Given the description of an element on the screen output the (x, y) to click on. 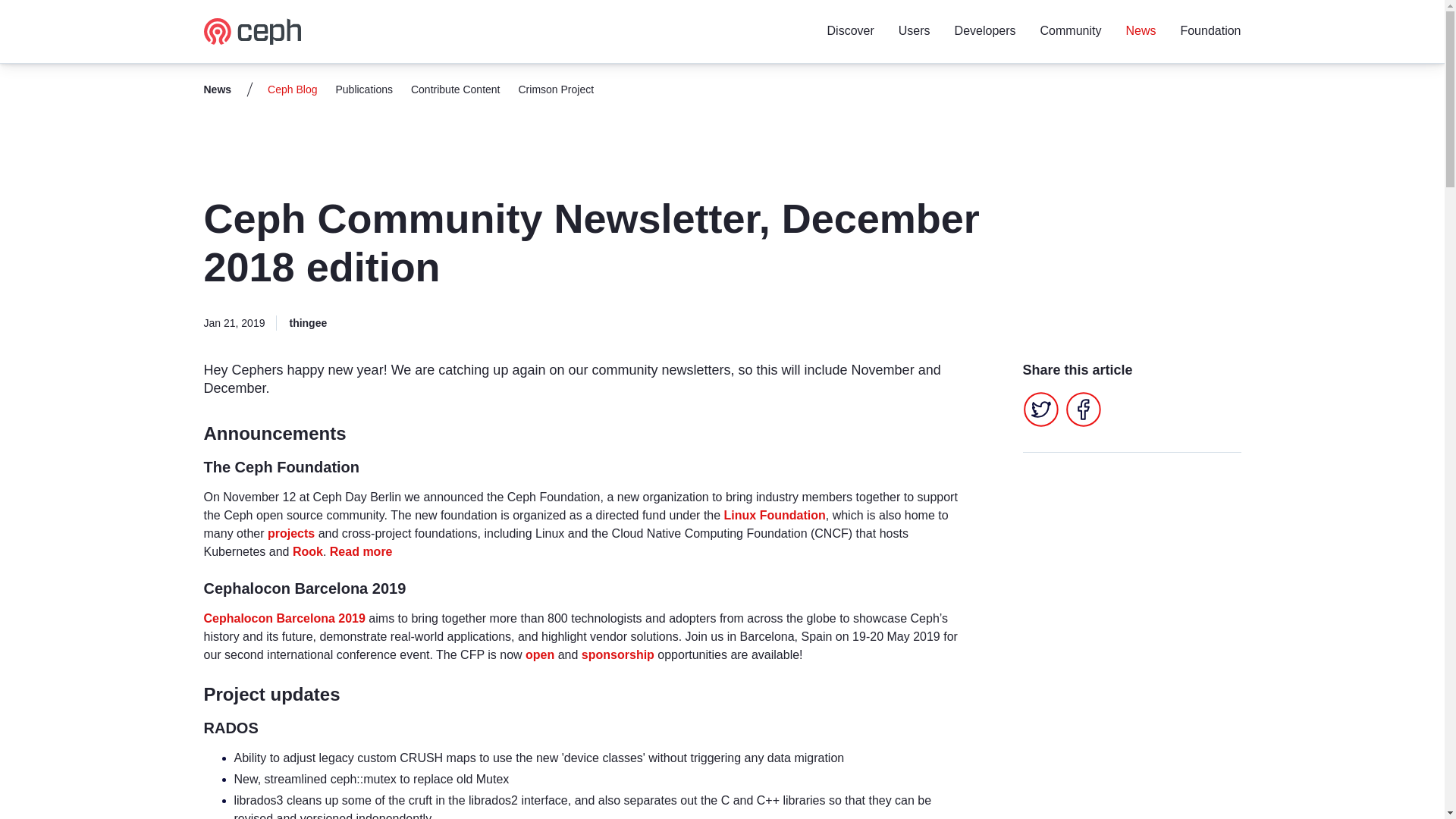
Cephalocon Barcelona 2019 (284, 617)
Users (914, 31)
sponsorship (616, 654)
News (217, 89)
projects (290, 533)
open (539, 654)
News (1140, 31)
Foundation (1209, 31)
Read more (361, 551)
Developers (985, 31)
